Given the description of an element on the screen output the (x, y) to click on. 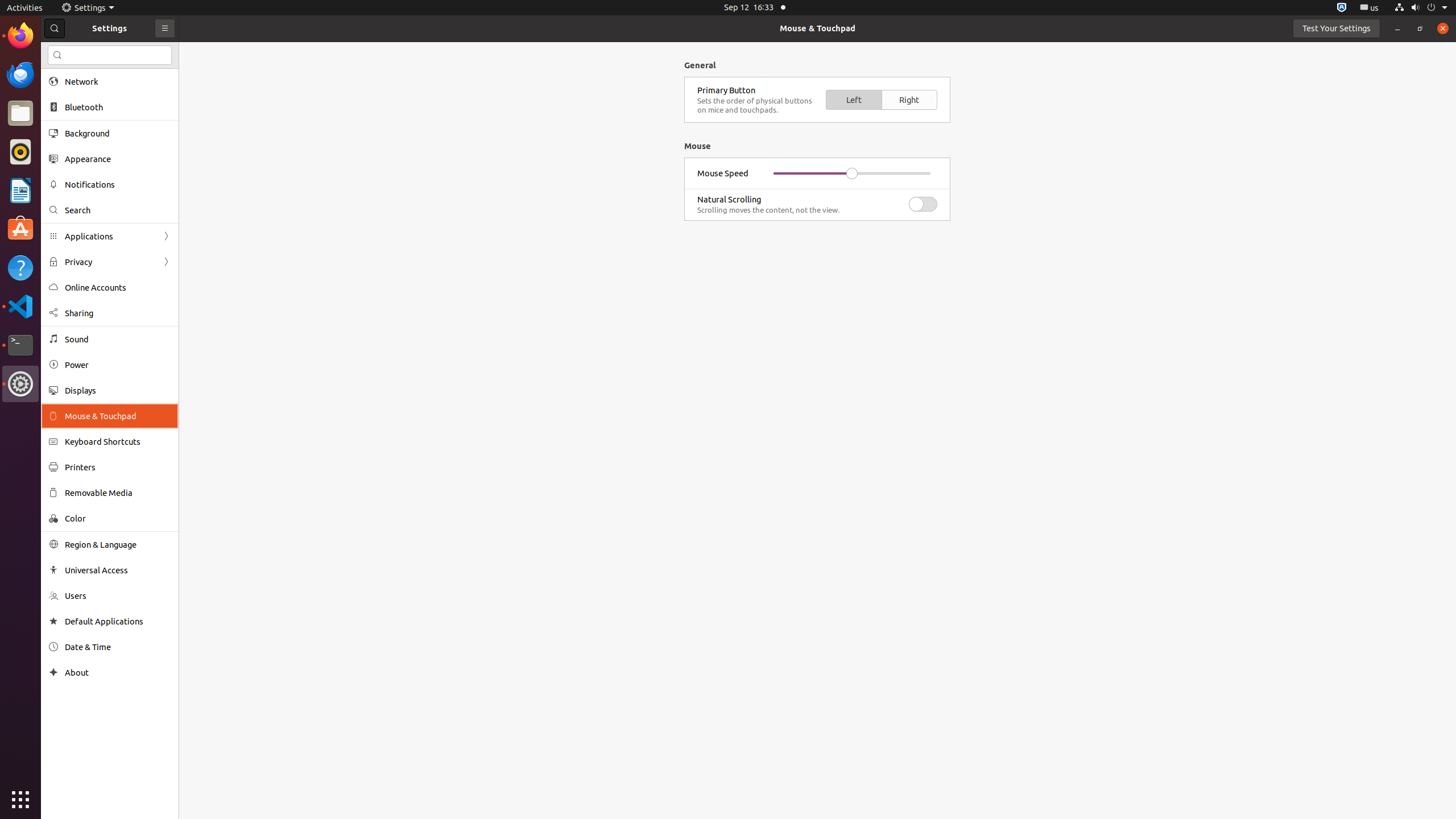
Natural Scrolling Element type: label (798, 199)
IsaHelpMain.desktop Element type: label (75, 170)
Left Element type: radio-button (853, 99)
Removable Media Element type: label (117, 492)
